Given the description of an element on the screen output the (x, y) to click on. 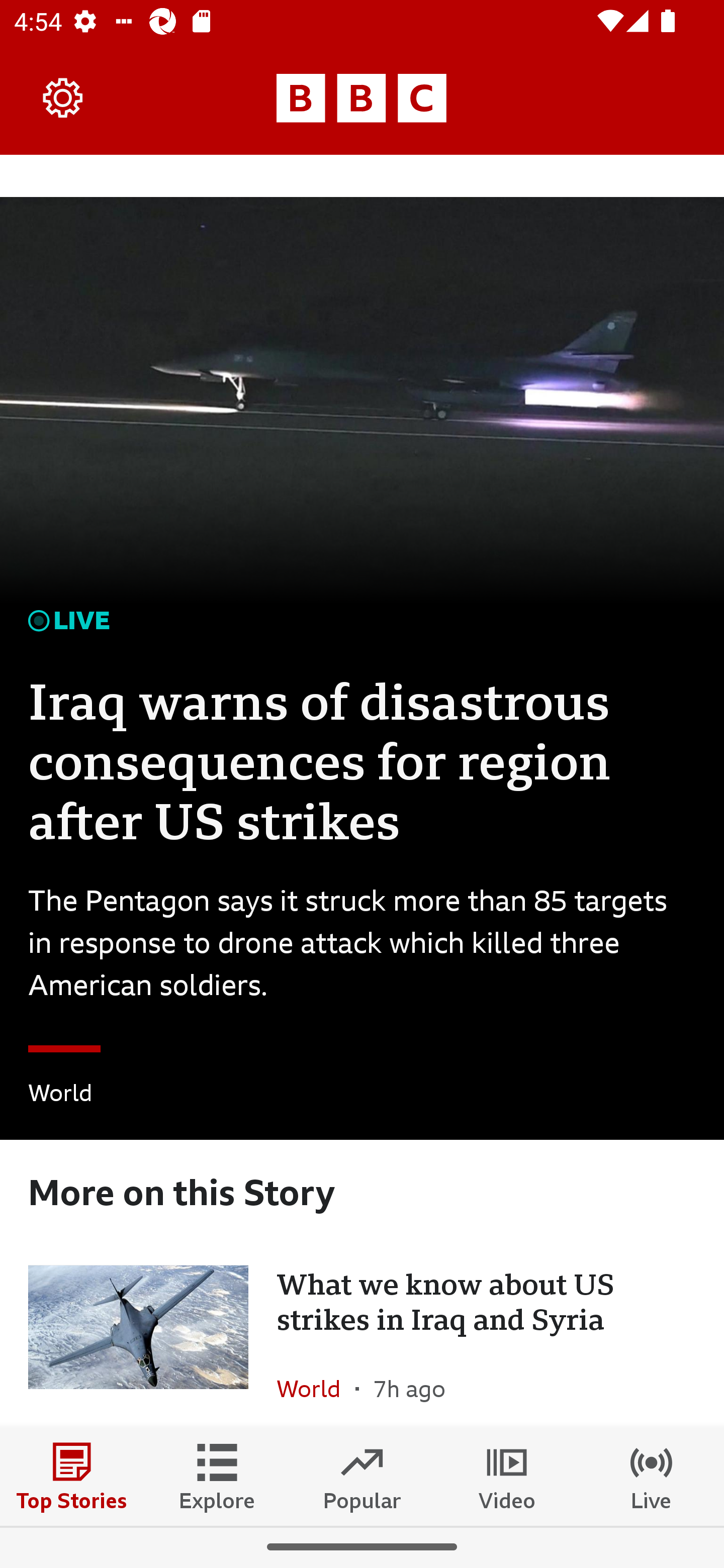
Settings (63, 97)
World In the section World (60, 1095)
World In the section World (315, 1381)
Explore (216, 1475)
Popular (361, 1475)
Video (506, 1475)
Live (651, 1475)
